Given the description of an element on the screen output the (x, y) to click on. 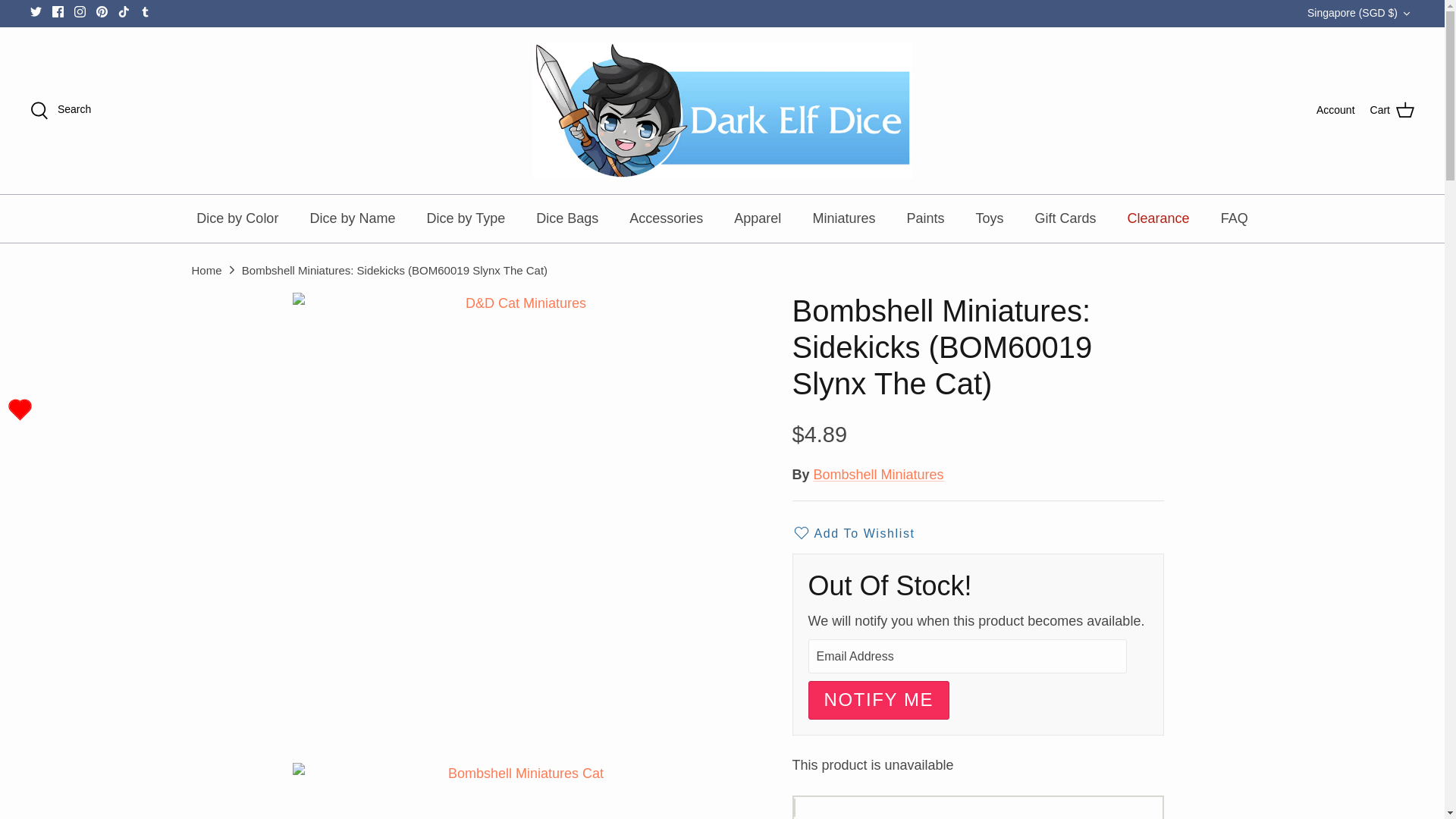
Instagram (79, 11)
Instagram (79, 11)
Twitter (36, 11)
Dark Elf Dice (721, 110)
Facebook (58, 11)
Down (1406, 13)
Pinterest (101, 11)
Pinterest (101, 11)
Twitter (36, 11)
Wishlist (19, 409)
Facebook (58, 11)
